Given the description of an element on the screen output the (x, y) to click on. 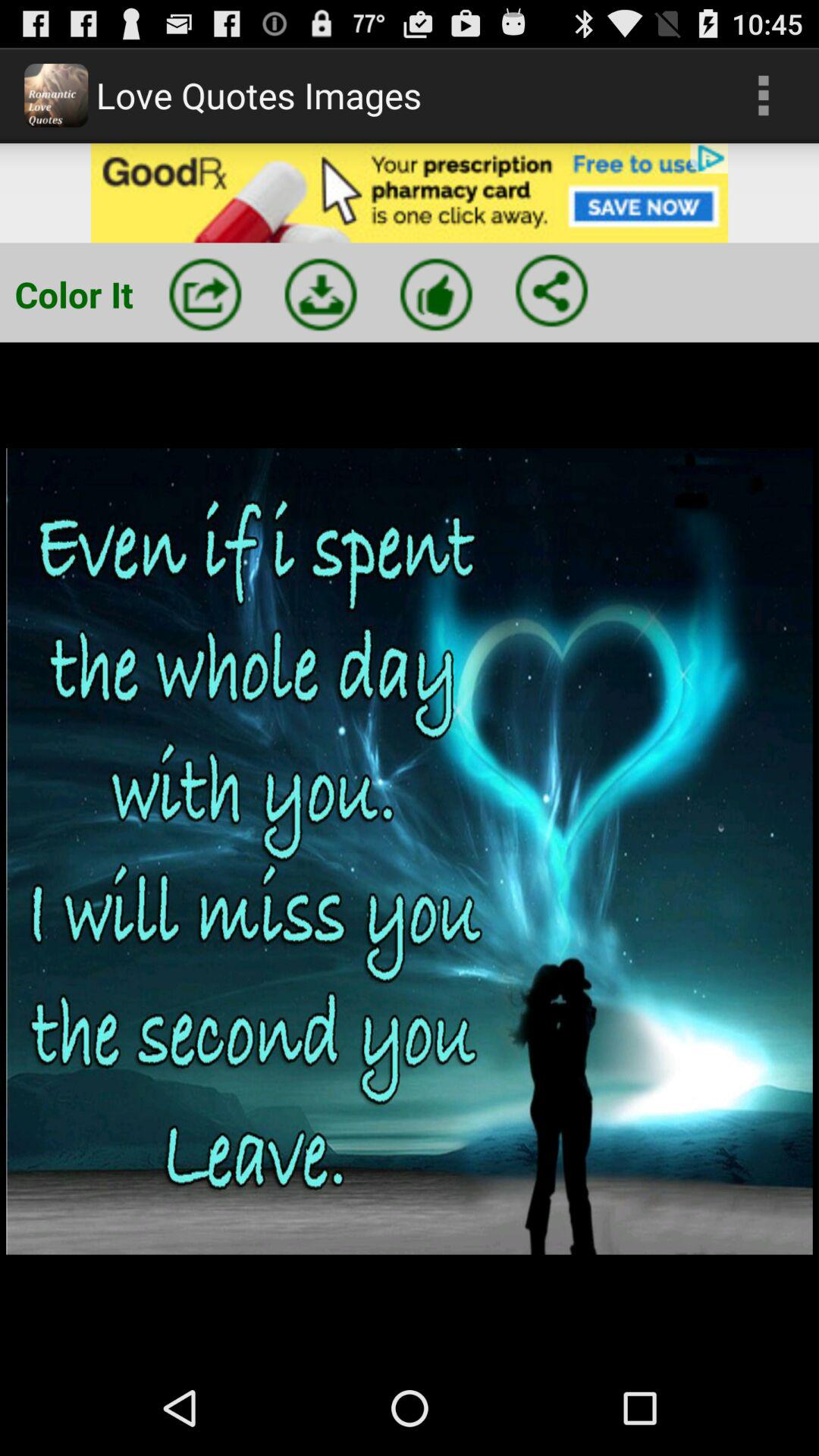
press down arrow button (320, 294)
